Given the description of an element on the screen output the (x, y) to click on. 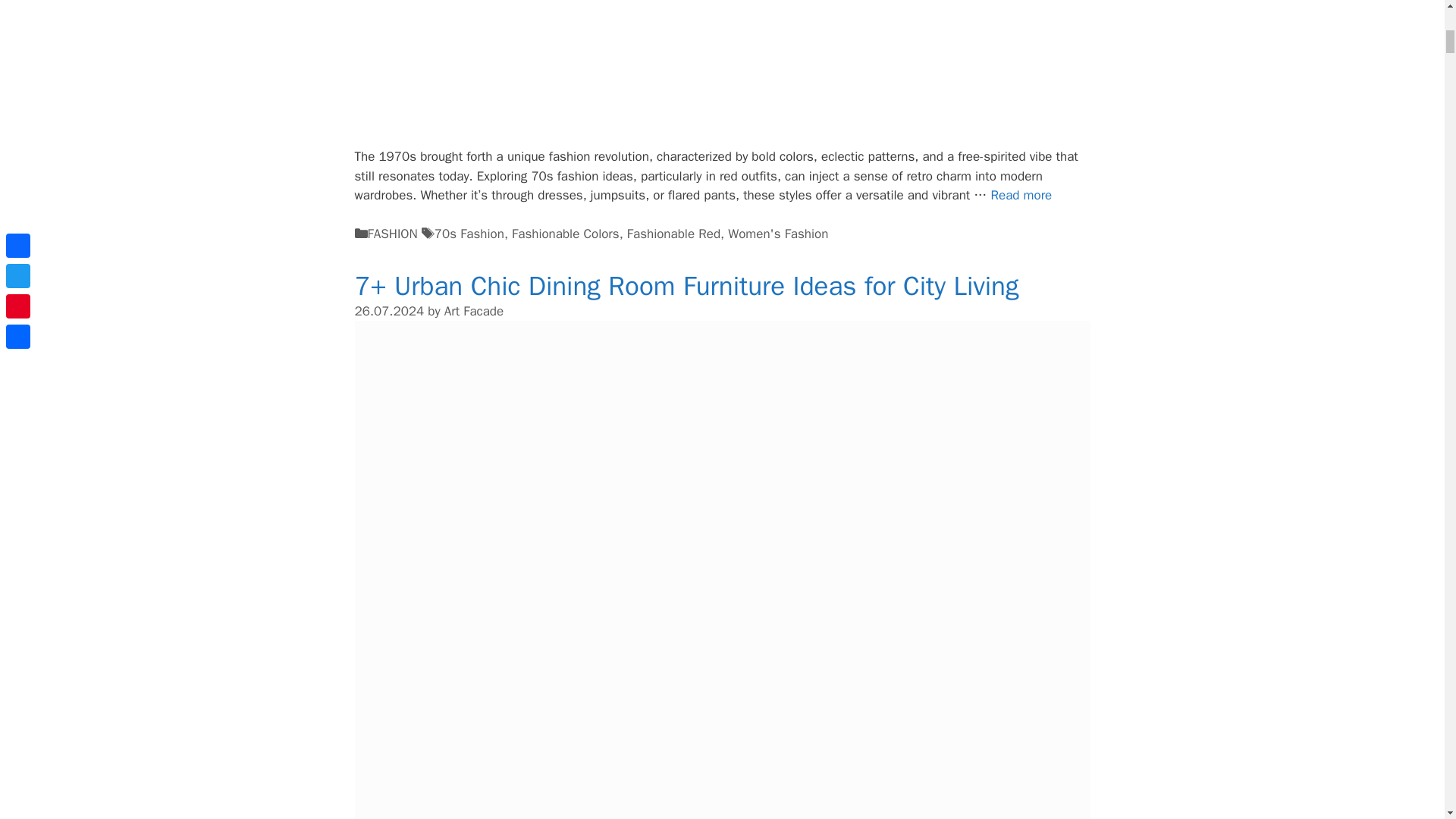
View all posts by Art Facade (473, 311)
How 70s Fashion Ideas Bring Back the Vibes in Red Outfits (1020, 195)
